Given the description of an element on the screen output the (x, y) to click on. 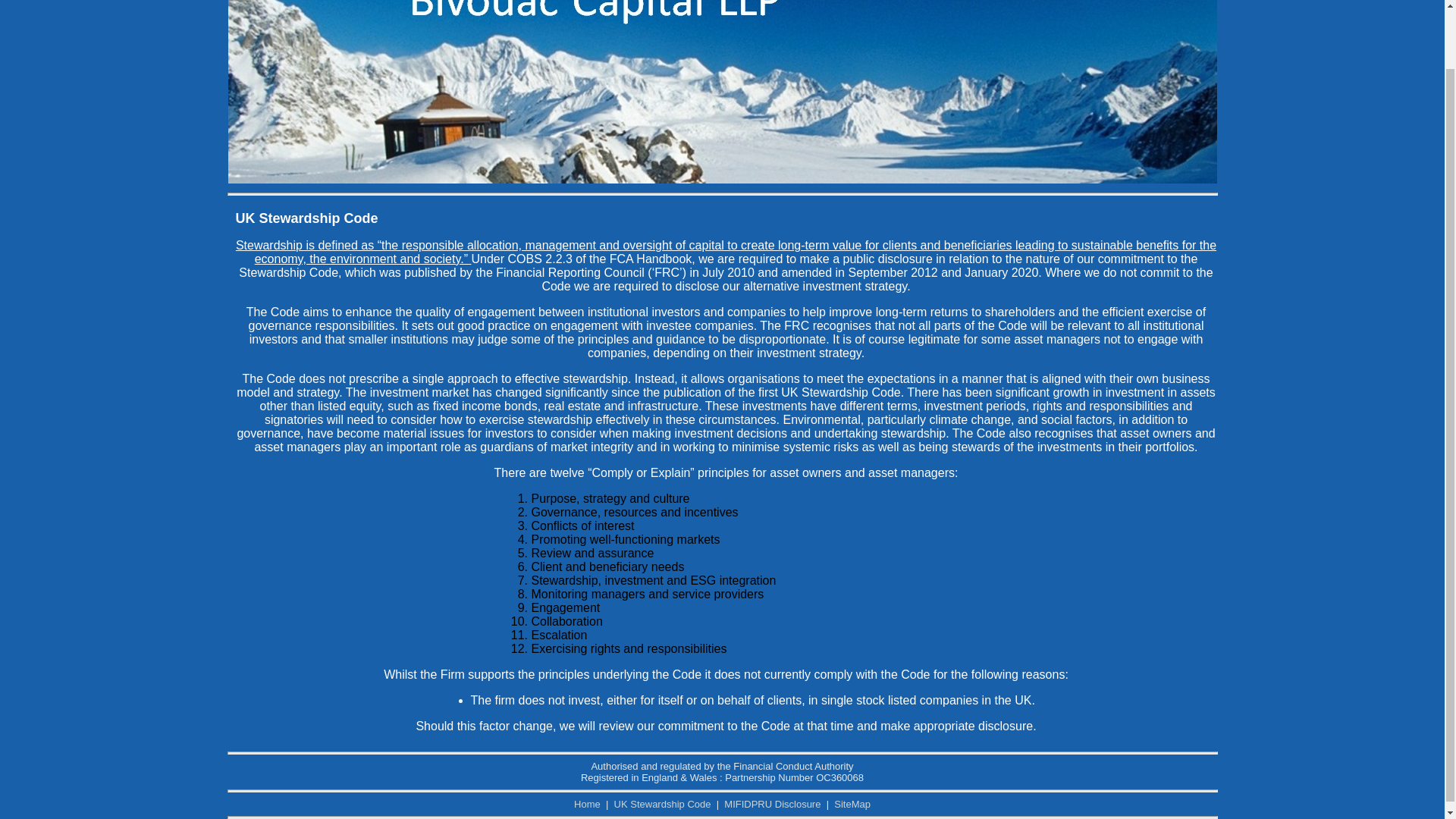
home (721, 178)
stewardship (662, 803)
SiteMap (852, 803)
Home (586, 803)
sitemap (852, 803)
home (586, 803)
UK Stewardship Code (662, 803)
MIFIDPRU Disclosure (772, 803)
Pillar 3 Statement and Remuneration Policy (772, 803)
